Given the description of an element on the screen output the (x, y) to click on. 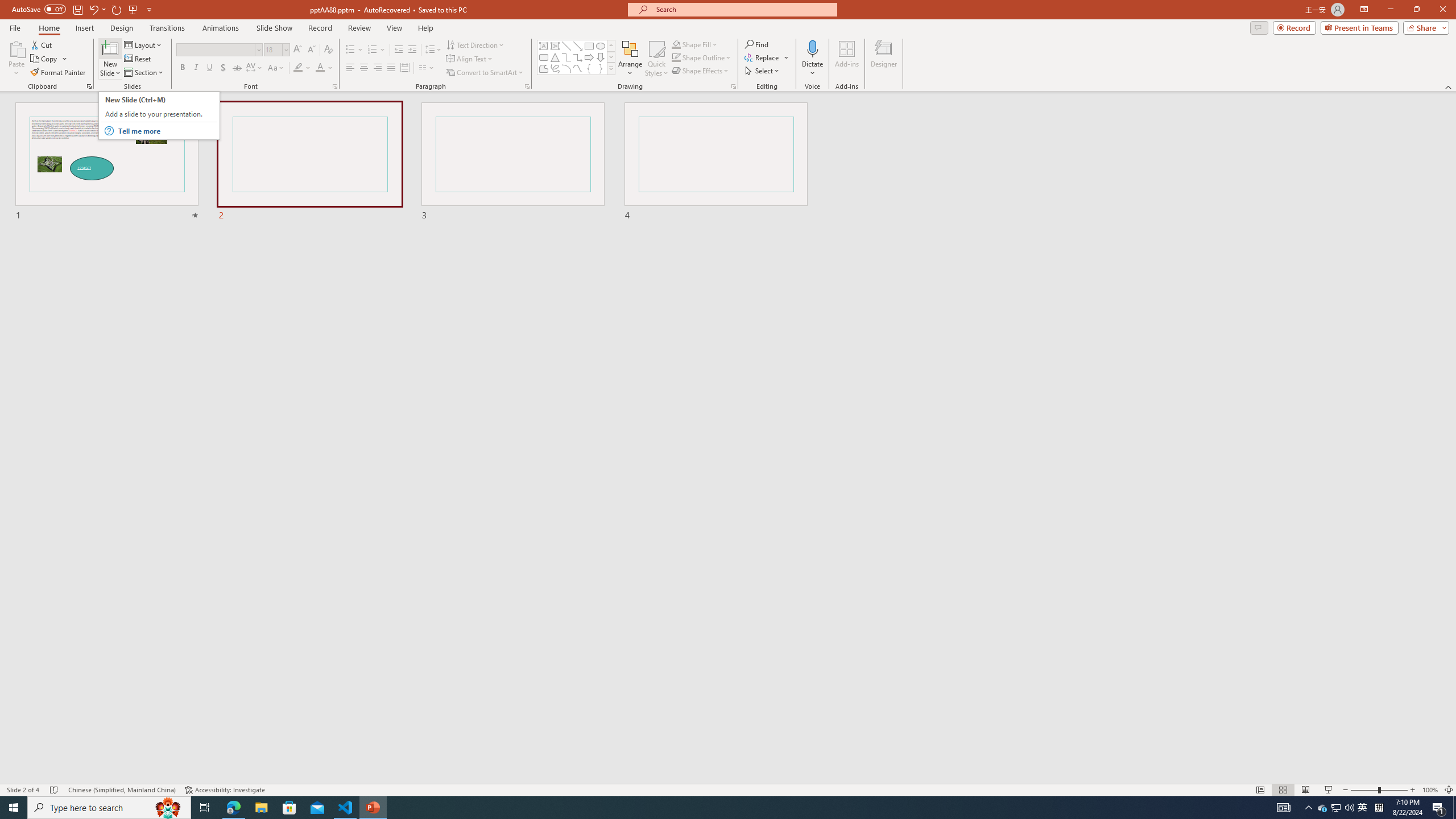
Reset (138, 58)
Freeform: Scribble (554, 68)
Strikethrough (237, 67)
Numbering (372, 49)
Format Painter (58, 72)
Redo (117, 9)
Slide Show (1328, 790)
Accessibility Checker Accessibility: Investigate (224, 790)
Slide Sorter (1282, 790)
Cut (42, 44)
View (395, 28)
Zoom In (1412, 790)
New Slide (110, 48)
From Beginning (133, 9)
Arc (566, 68)
